Given the description of an element on the screen output the (x, y) to click on. 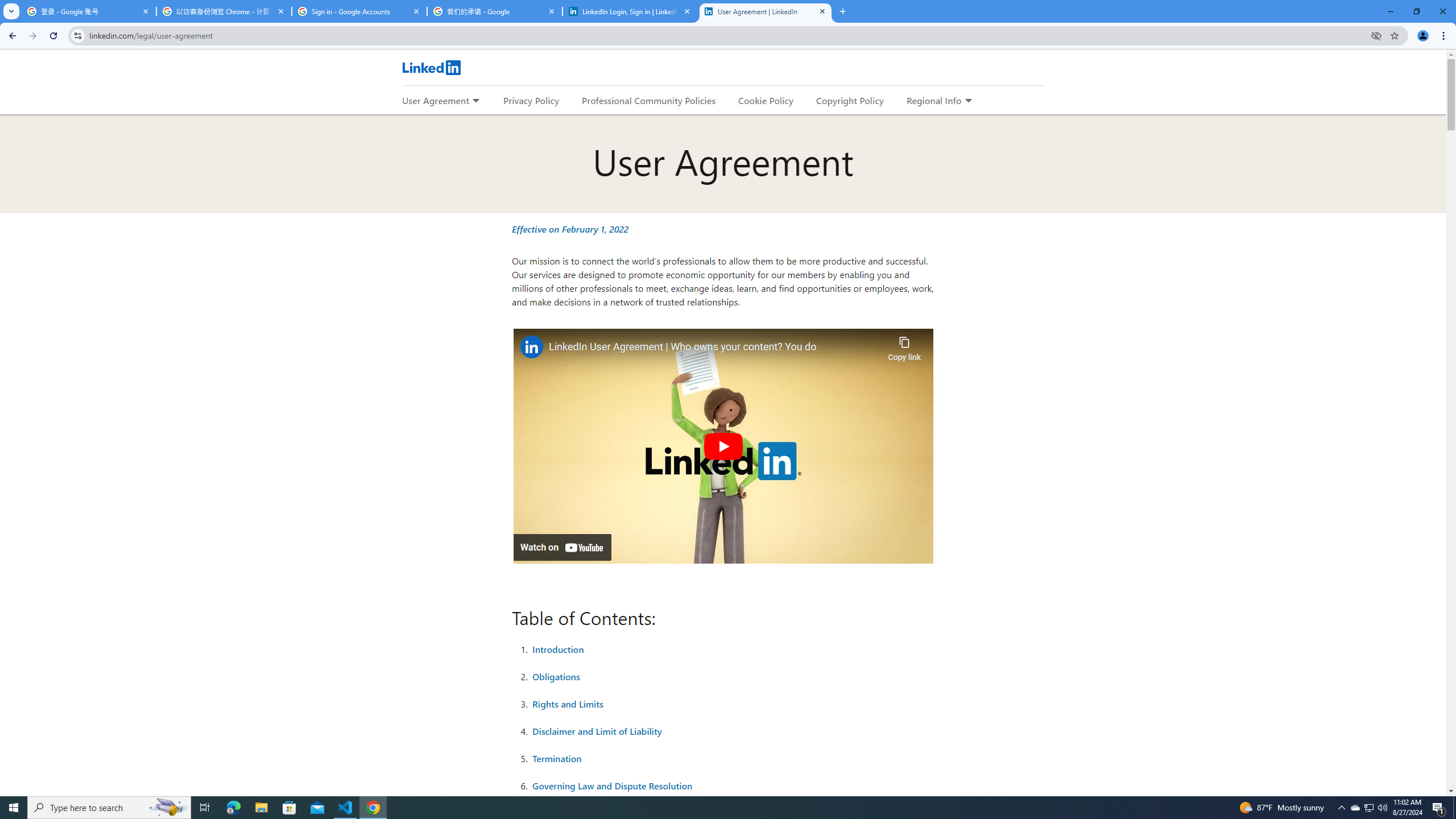
User Agreement | LinkedIn (765, 11)
Termination (557, 757)
Photo image of LinkedIn (531, 346)
Governing Law and Dispute Resolution (612, 784)
Copy link (904, 345)
Copyright Policy (849, 100)
Watch on YouTube (561, 547)
